Given the description of an element on the screen output the (x, y) to click on. 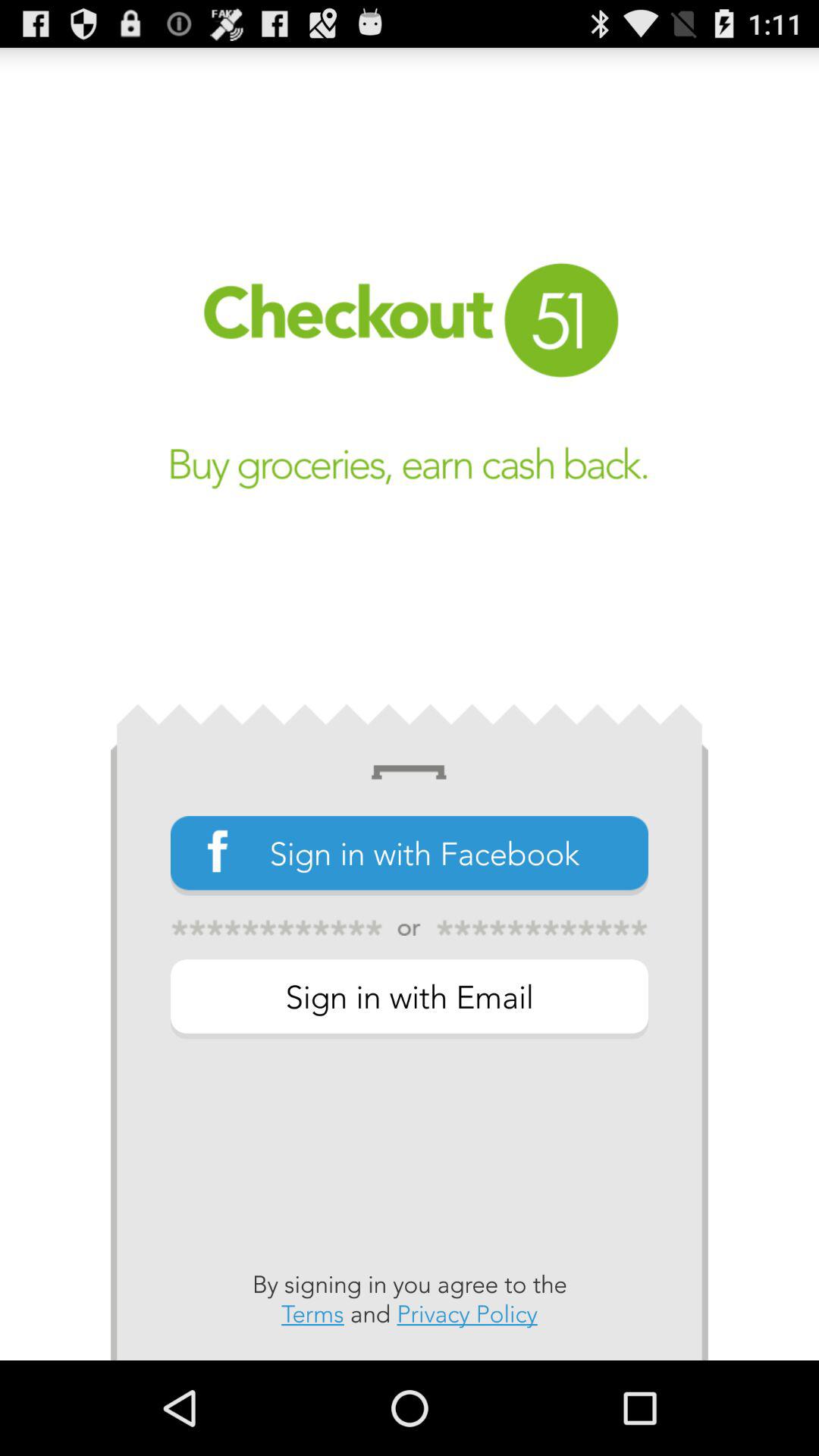
jump until by signing in item (409, 1299)
